Given the description of an element on the screen output the (x, y) to click on. 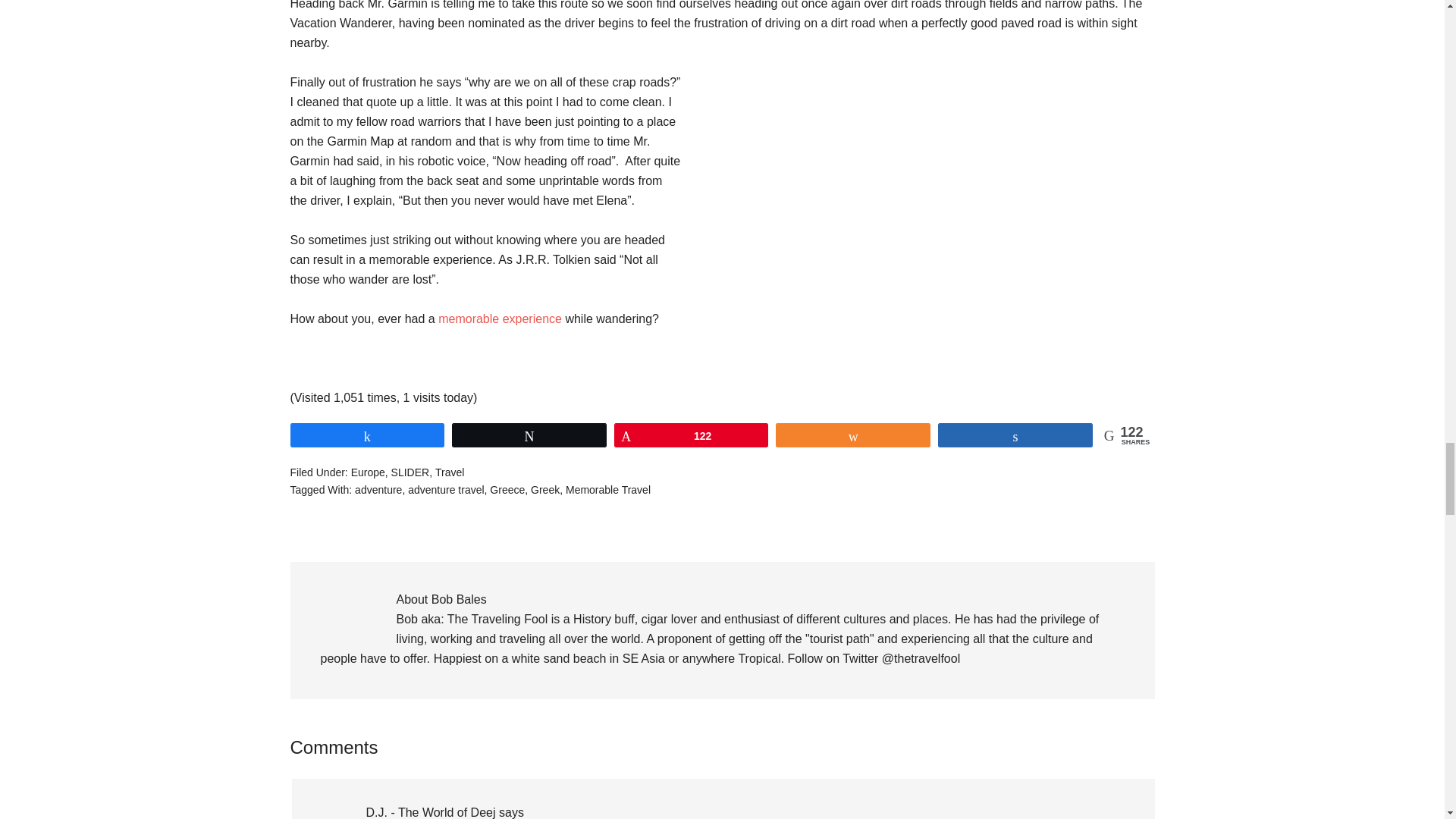
adventure (378, 490)
Travel (449, 472)
memorable experience (500, 318)
122 (691, 435)
Greek (545, 490)
adventure travel (445, 490)
Greece (506, 490)
D.J. - The World of Deej (430, 812)
SLIDER (410, 472)
Europe (367, 472)
